Given the description of an element on the screen output the (x, y) to click on. 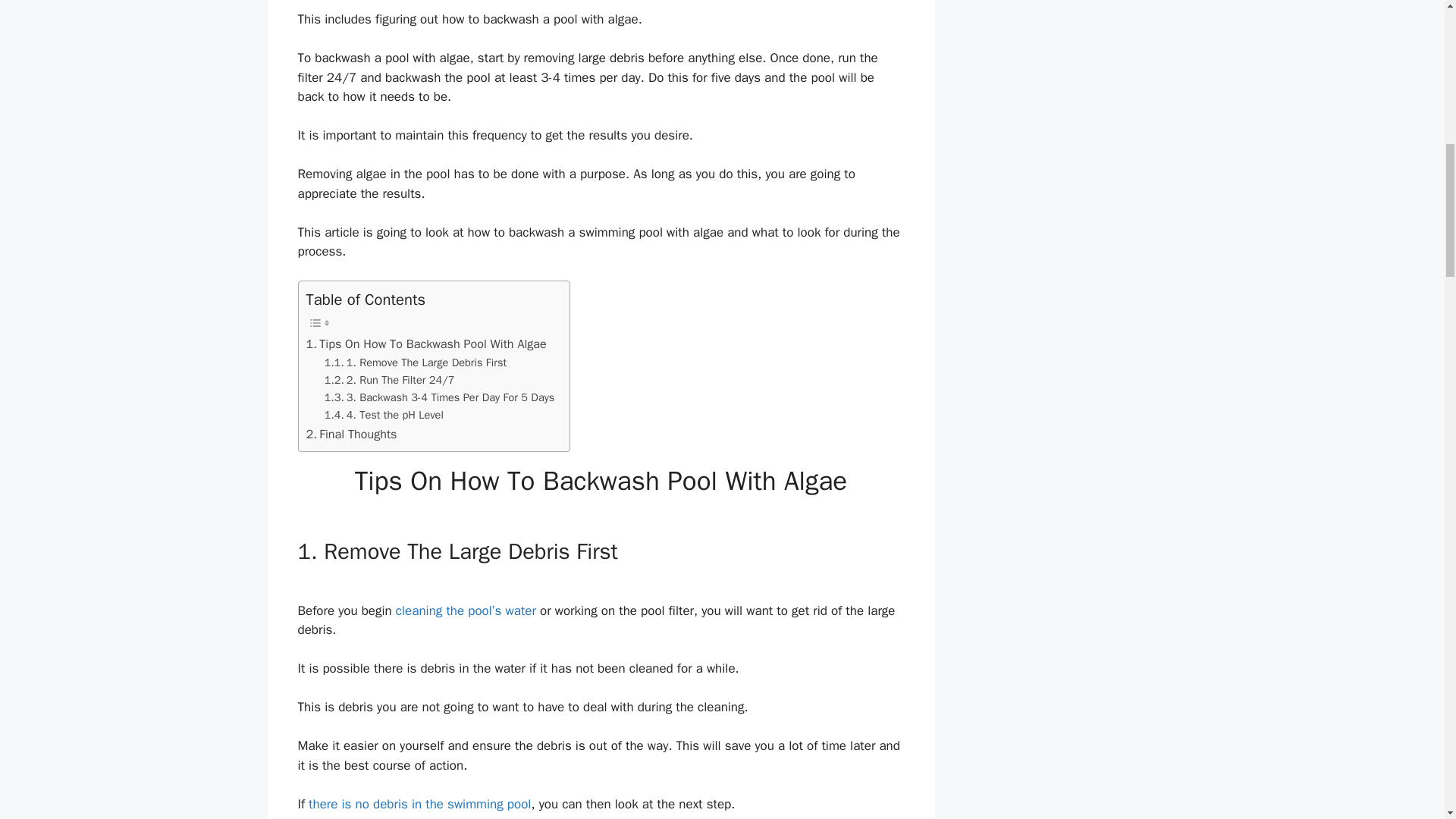
4. Test the pH Level (384, 415)
1. Remove The Large Debris First (415, 362)
4. Test the pH Level (384, 415)
Tips On How To Backwash Pool With Algae (426, 343)
1. Remove The Large Debris First (415, 362)
Final Thoughts (351, 434)
3. Backwash 3-4 Times Per Day For 5 Days (439, 397)
3. Backwash 3-4 Times Per Day For 5 Days (439, 397)
there is no debris in the swimming pool (419, 804)
Tips On How To Backwash Pool With Algae (426, 343)
